Given the description of an element on the screen output the (x, y) to click on. 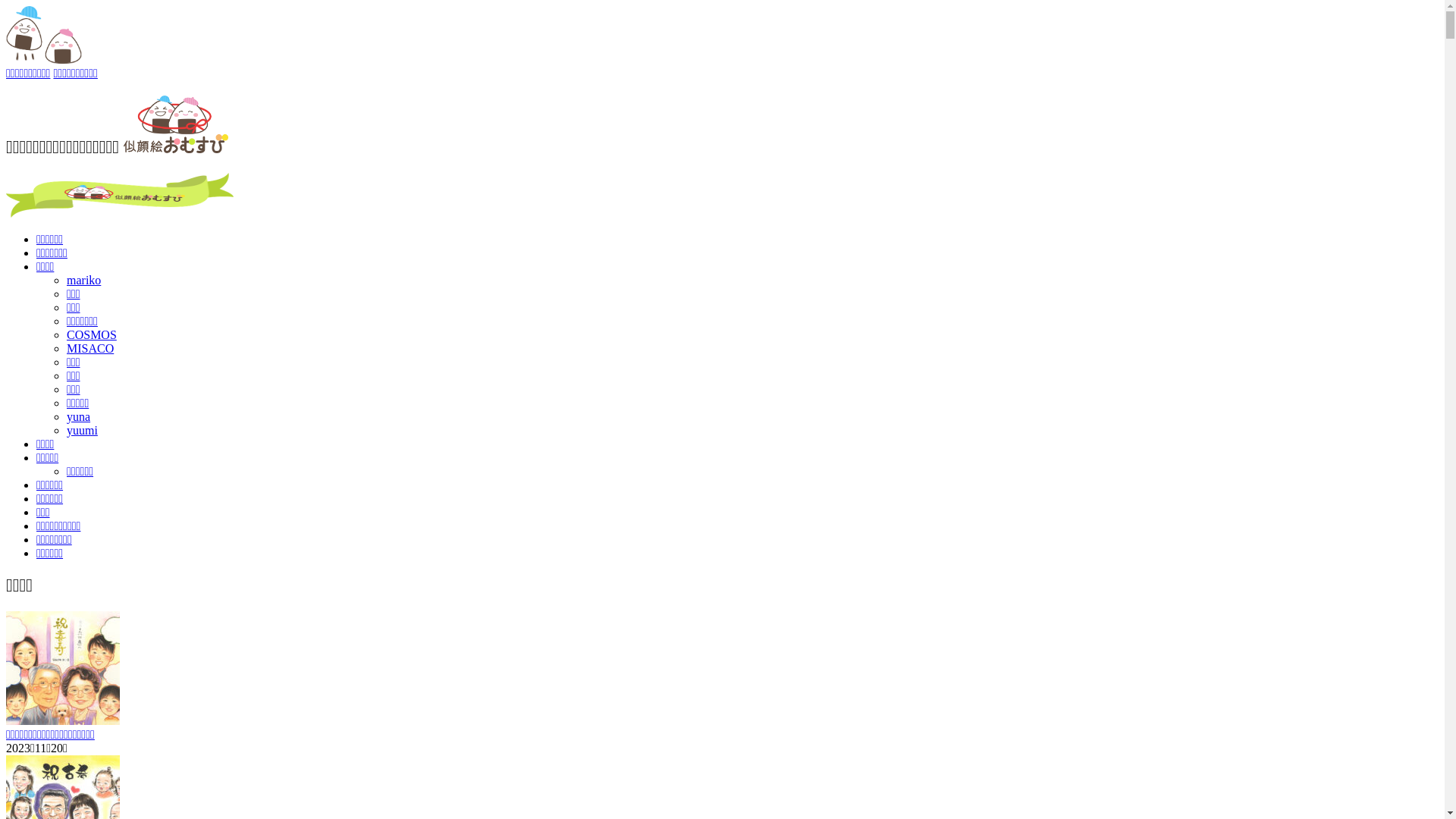
COSMOS Element type: text (91, 334)
MISACO Element type: text (89, 348)
mariko Element type: text (83, 279)
yuna Element type: text (78, 416)
yuumi Element type: text (81, 429)
